Given the description of an element on the screen output the (x, y) to click on. 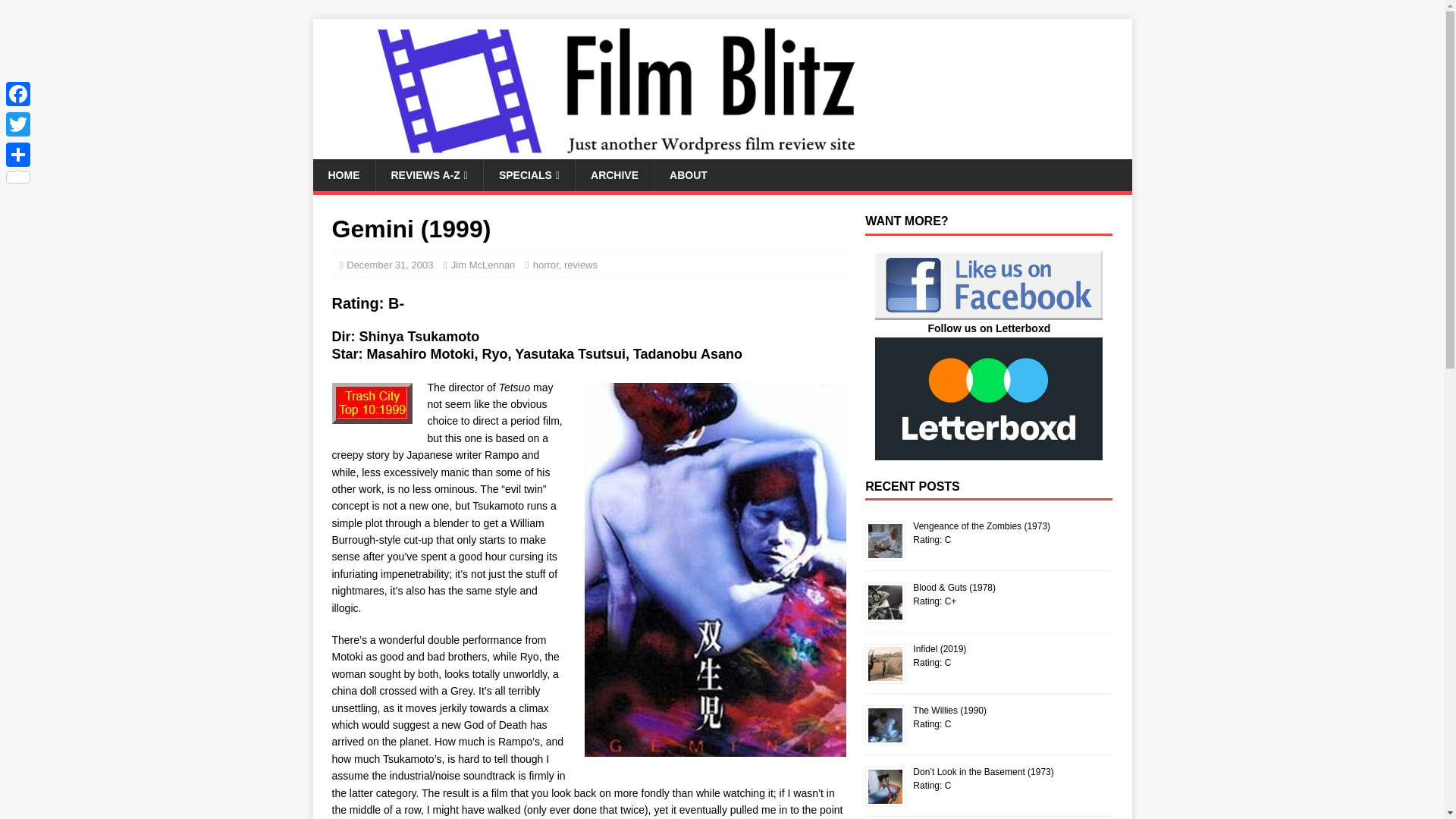
REVIEWS A-Z (427, 174)
Facebook (17, 93)
Film Blitz (615, 150)
December 31, 2003 (389, 265)
Jim McLennan (483, 265)
horror (545, 265)
Twitter (17, 123)
reviews (580, 265)
SPECIALS (529, 174)
HOME (343, 174)
